Given the description of an element on the screen output the (x, y) to click on. 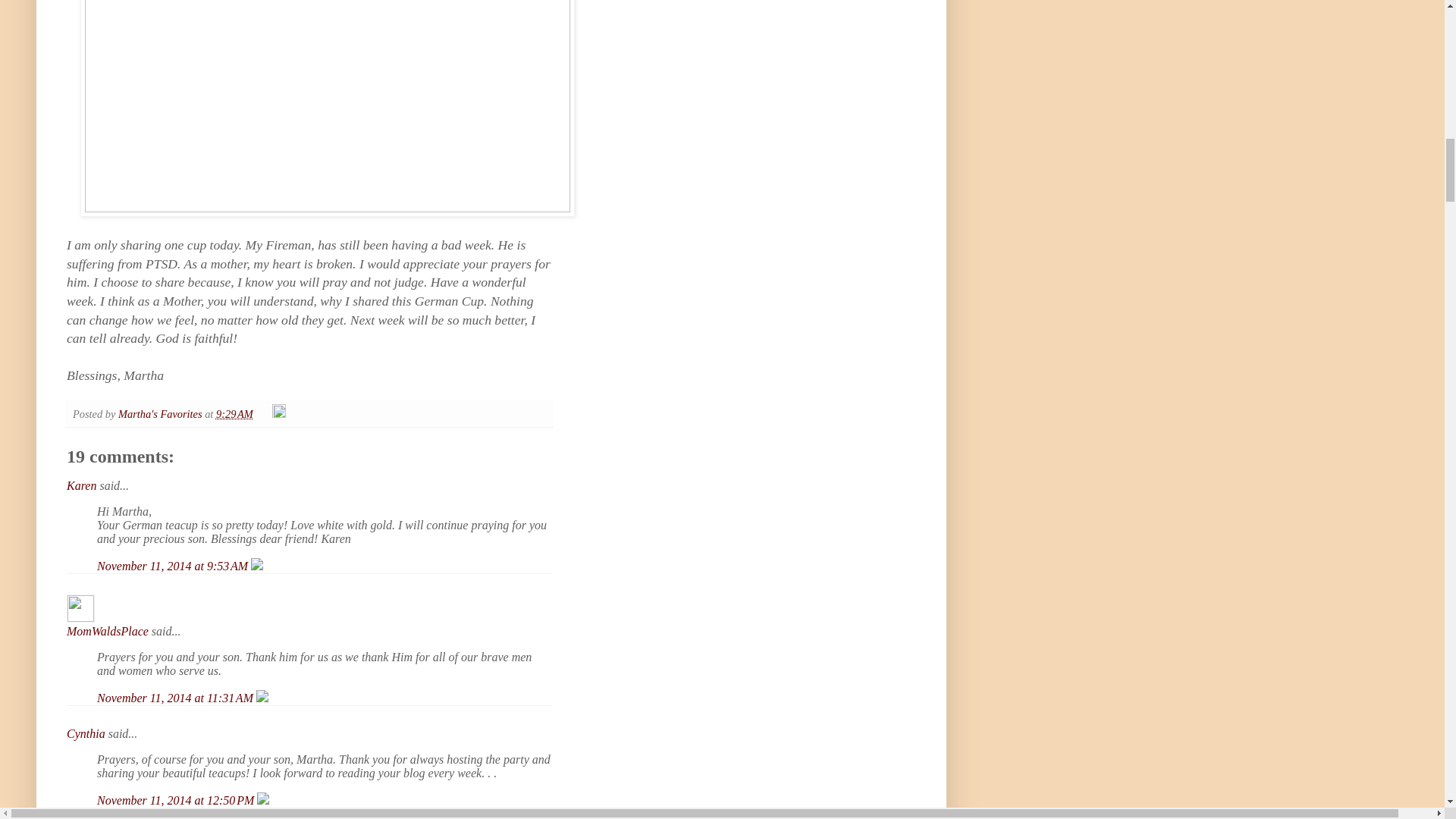
Delete Comment (263, 799)
Delete Comment (261, 697)
Martha's Favorites (161, 413)
MomWaldsPlace (107, 631)
comment permalink (173, 565)
Cynthia (85, 733)
author profile (161, 413)
permanent link (234, 413)
Edit Post (278, 413)
Delete Comment (256, 565)
Email Post (264, 413)
comment permalink (177, 799)
comment permalink (176, 697)
Karen (81, 485)
